Given the description of an element on the screen output the (x, y) to click on. 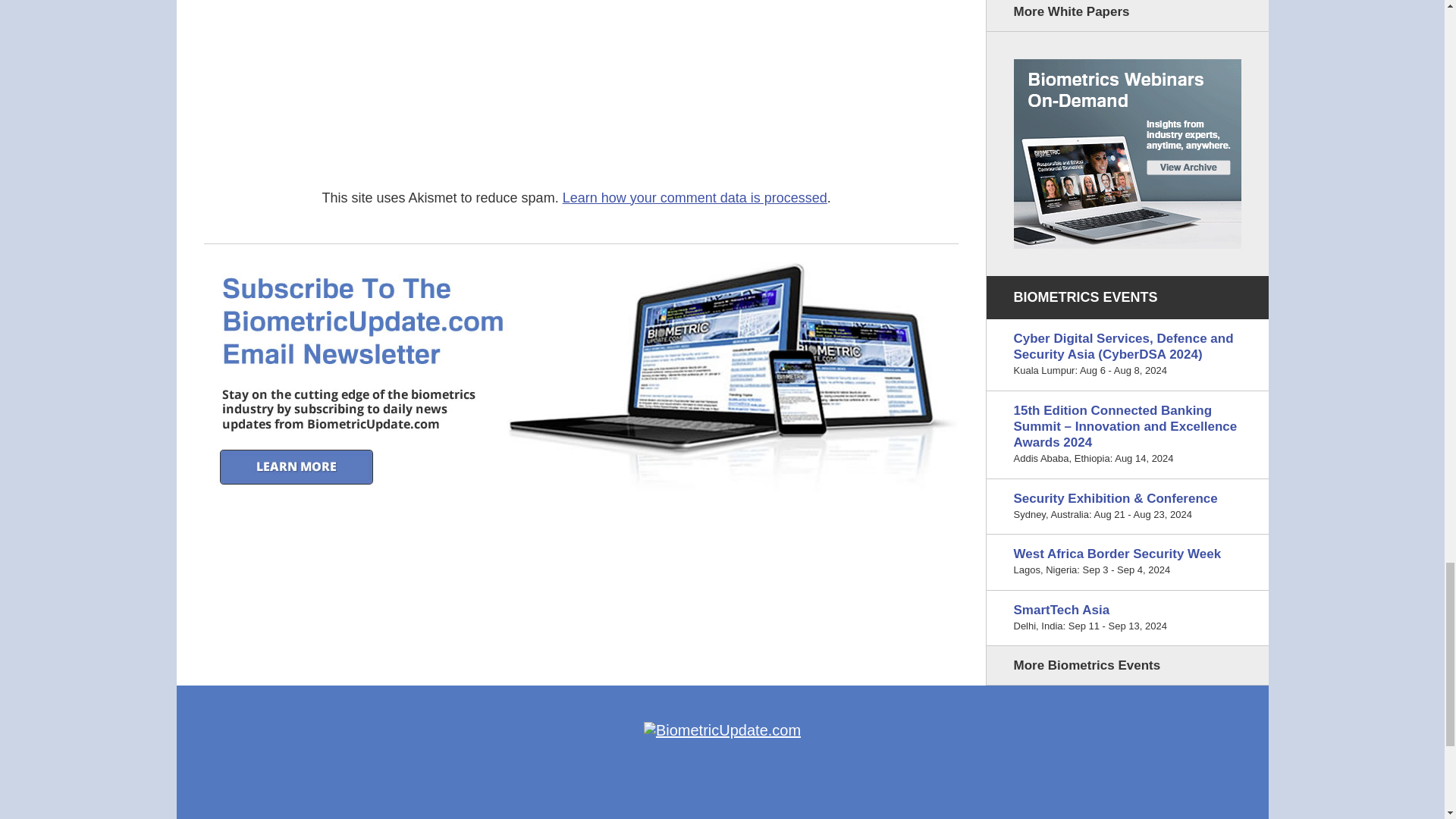
Comment Form (639, 82)
